Given the description of an element on the screen output the (x, y) to click on. 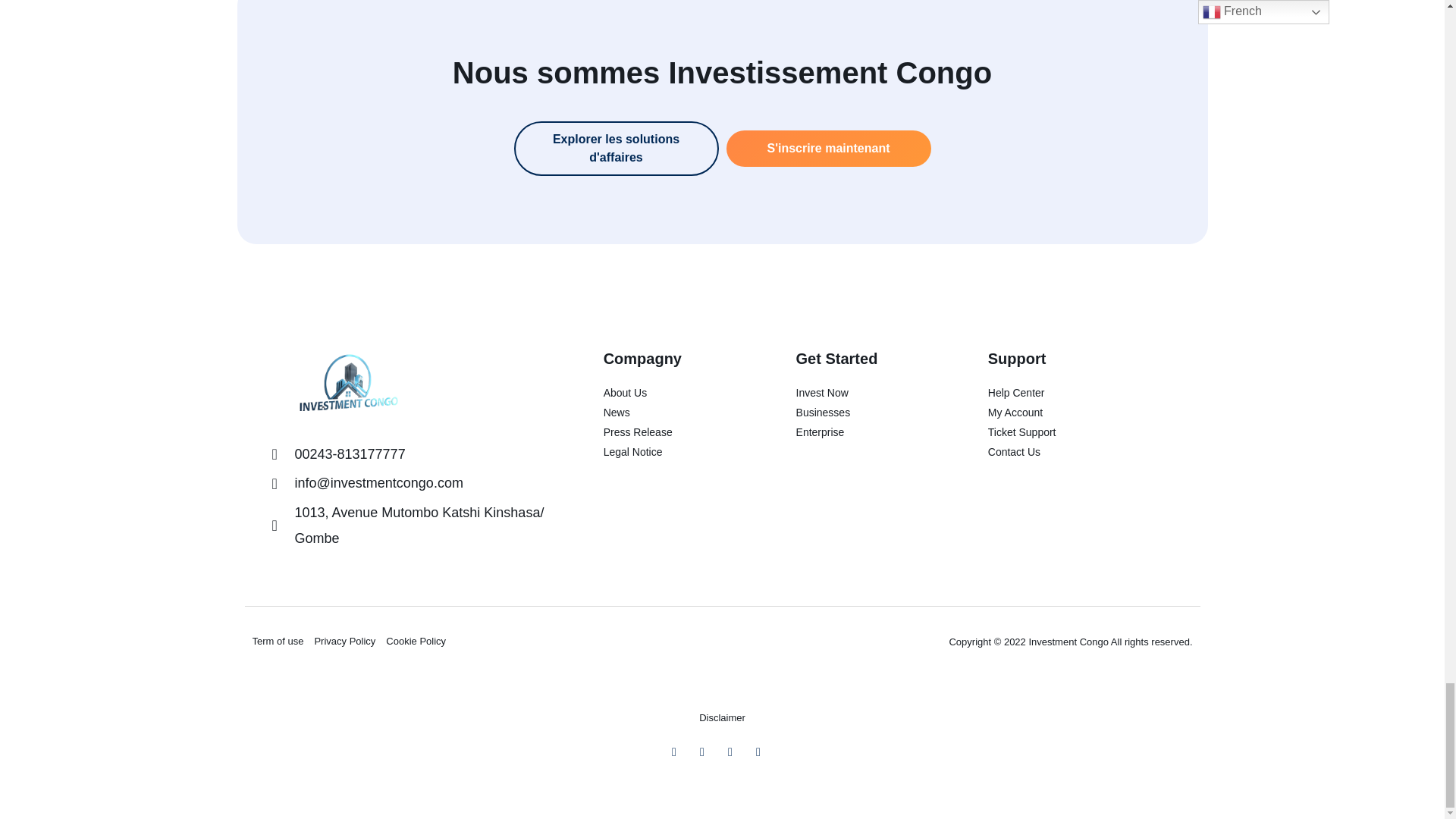
About Us (672, 392)
S'inscrire maintenant (828, 148)
Invest Now (864, 392)
Enterprise (864, 432)
Businesses (864, 412)
Press Release (672, 432)
Legal Notice (672, 451)
Help Center (1080, 392)
News (672, 412)
Explorer les solutions d'affaires (616, 148)
